Given the description of an element on the screen output the (x, y) to click on. 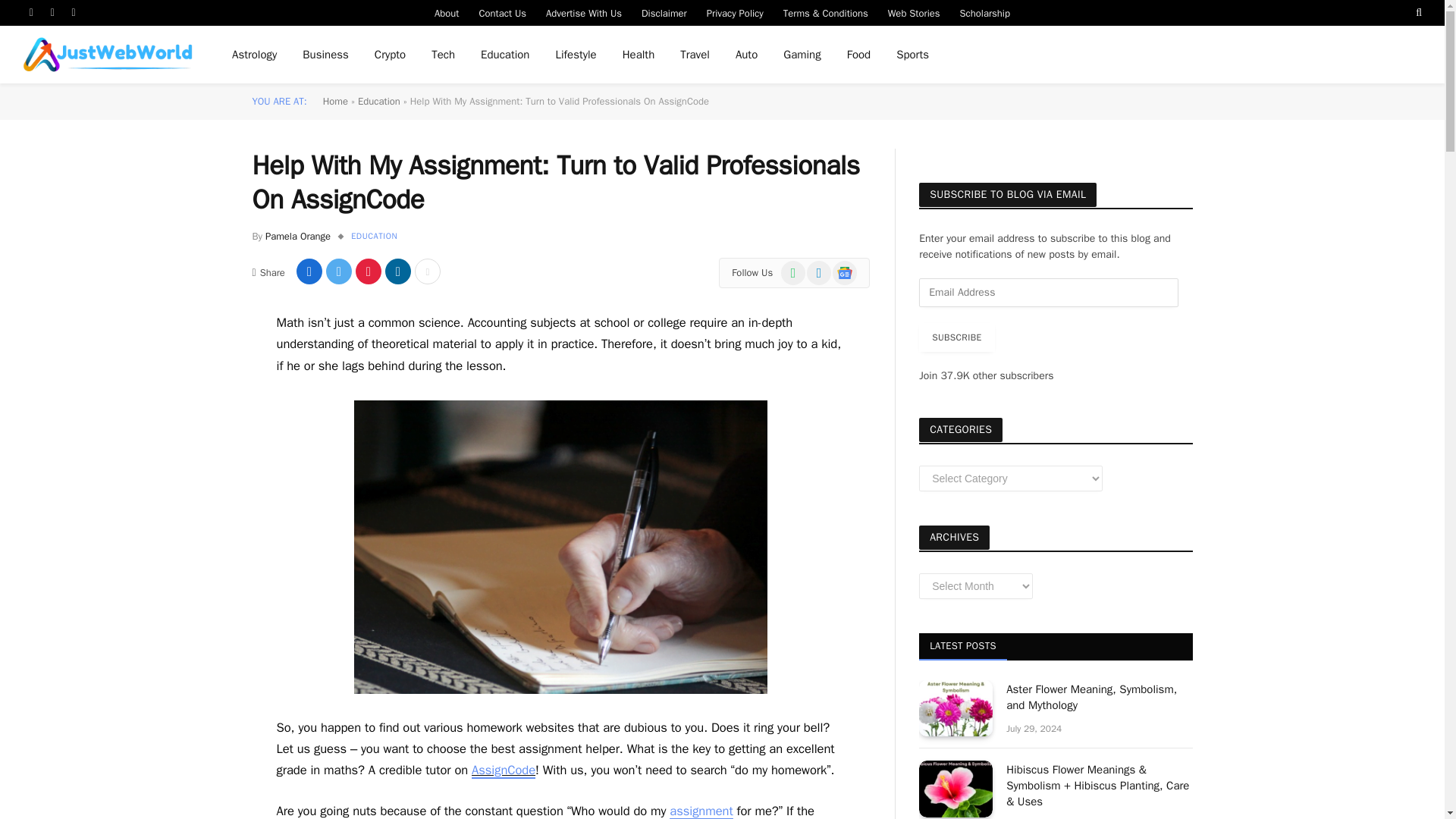
Share on Facebook (309, 271)
Show More Social Sharing (427, 271)
Education (504, 54)
Contact Us (501, 12)
Astrology (254, 54)
About (446, 12)
Health (639, 54)
Web Stories (913, 12)
Advertise With Us (583, 12)
Share on Pinterest (368, 271)
Posts by Pamela Orange (297, 236)
Travel (694, 54)
Crypto (390, 54)
Privacy Policy (735, 12)
Scholarship (985, 12)
